Given the description of an element on the screen output the (x, y) to click on. 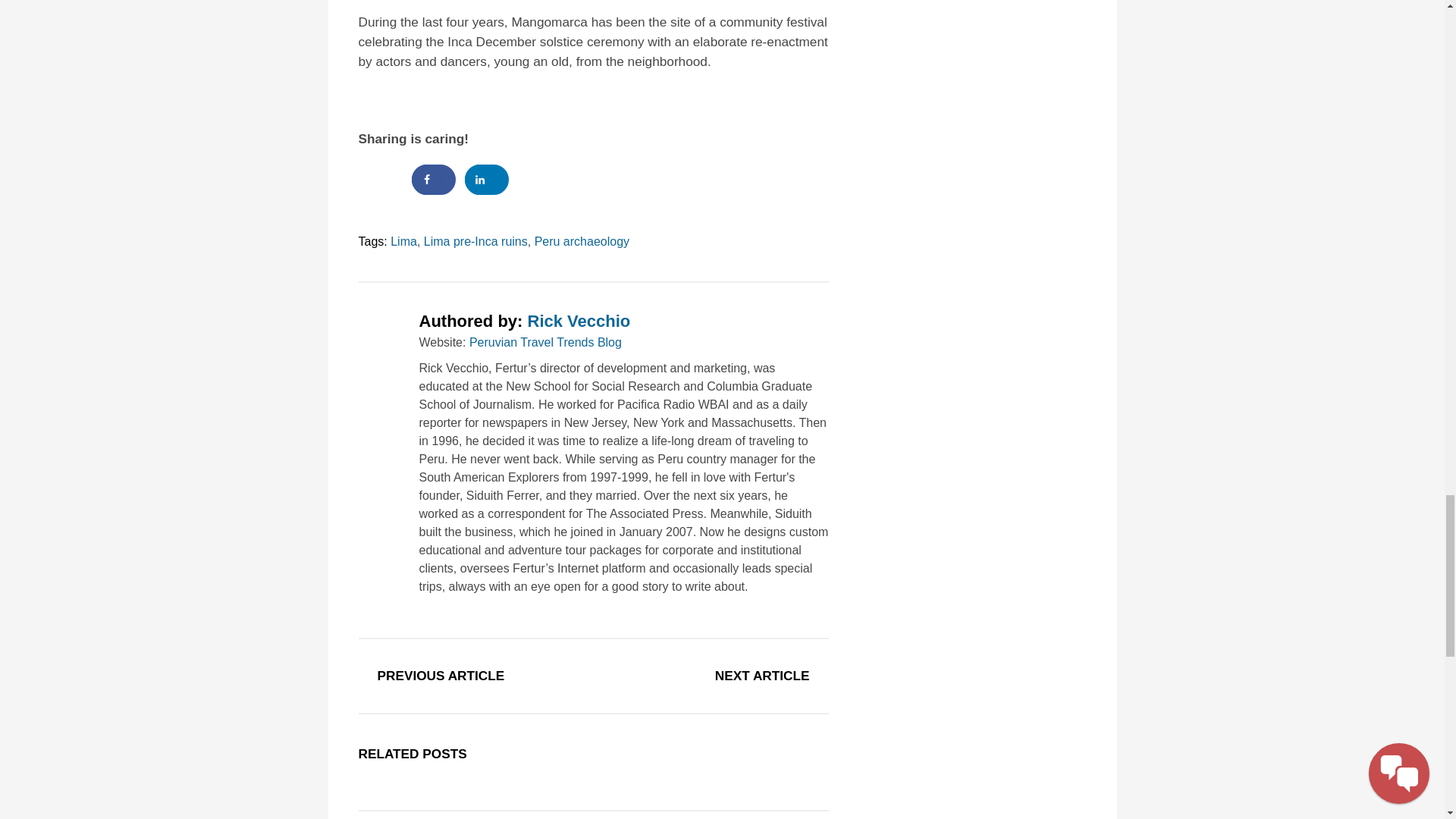
Share on Facebook (433, 179)
Visit Author Page (380, 335)
Peruvian Travel Trends Blog (544, 341)
Share on X (379, 179)
Lima pre-Inca ruins (475, 241)
Share on LinkedIn (486, 179)
Peru archaeology (581, 241)
Visit Author Page (578, 321)
PREVIOUS ARTICLE (441, 675)
Rick Vecchio (578, 321)
